Given the description of an element on the screen output the (x, y) to click on. 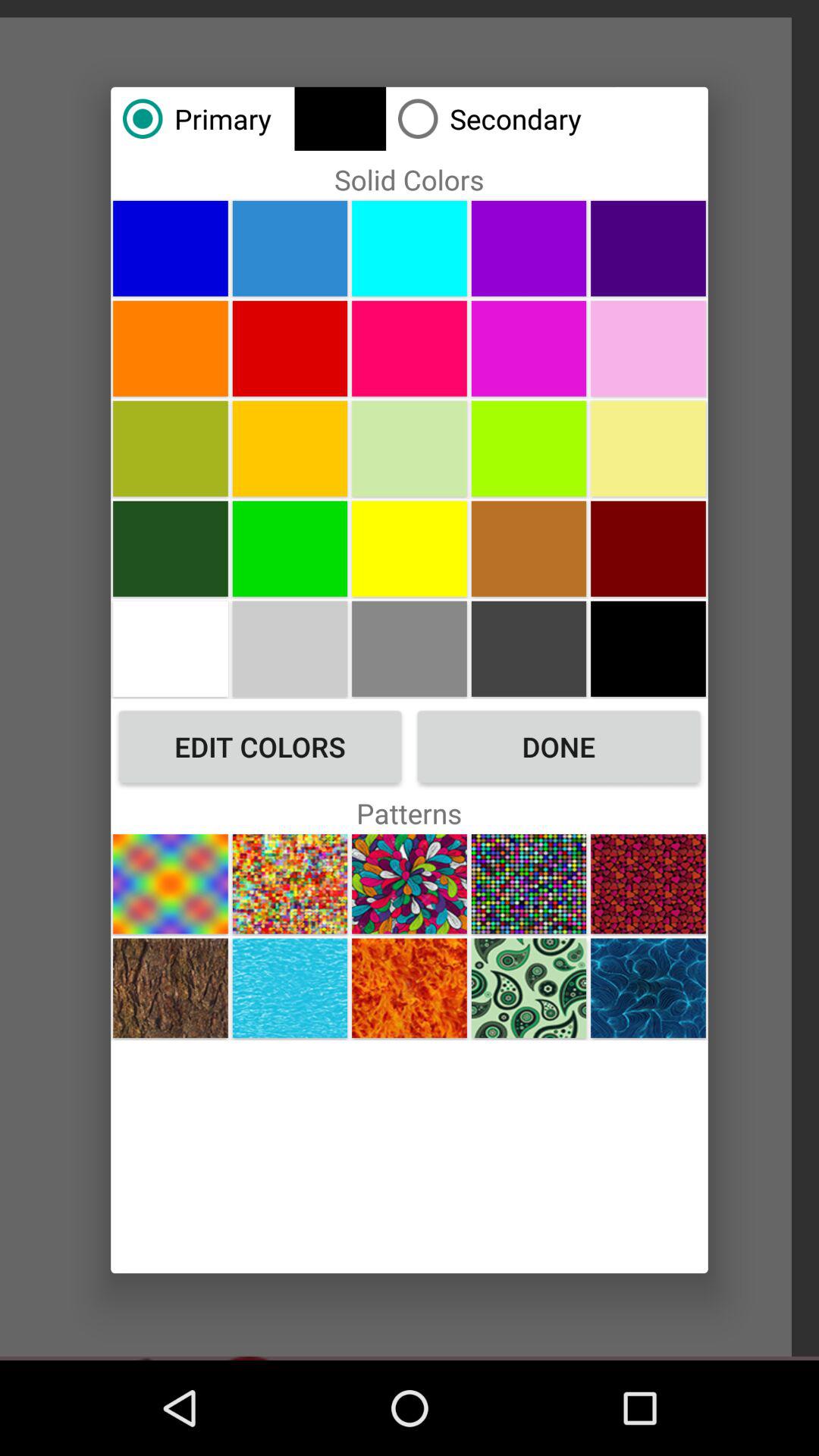
orange box flashing for selecting color (170, 448)
